Given the description of an element on the screen output the (x, y) to click on. 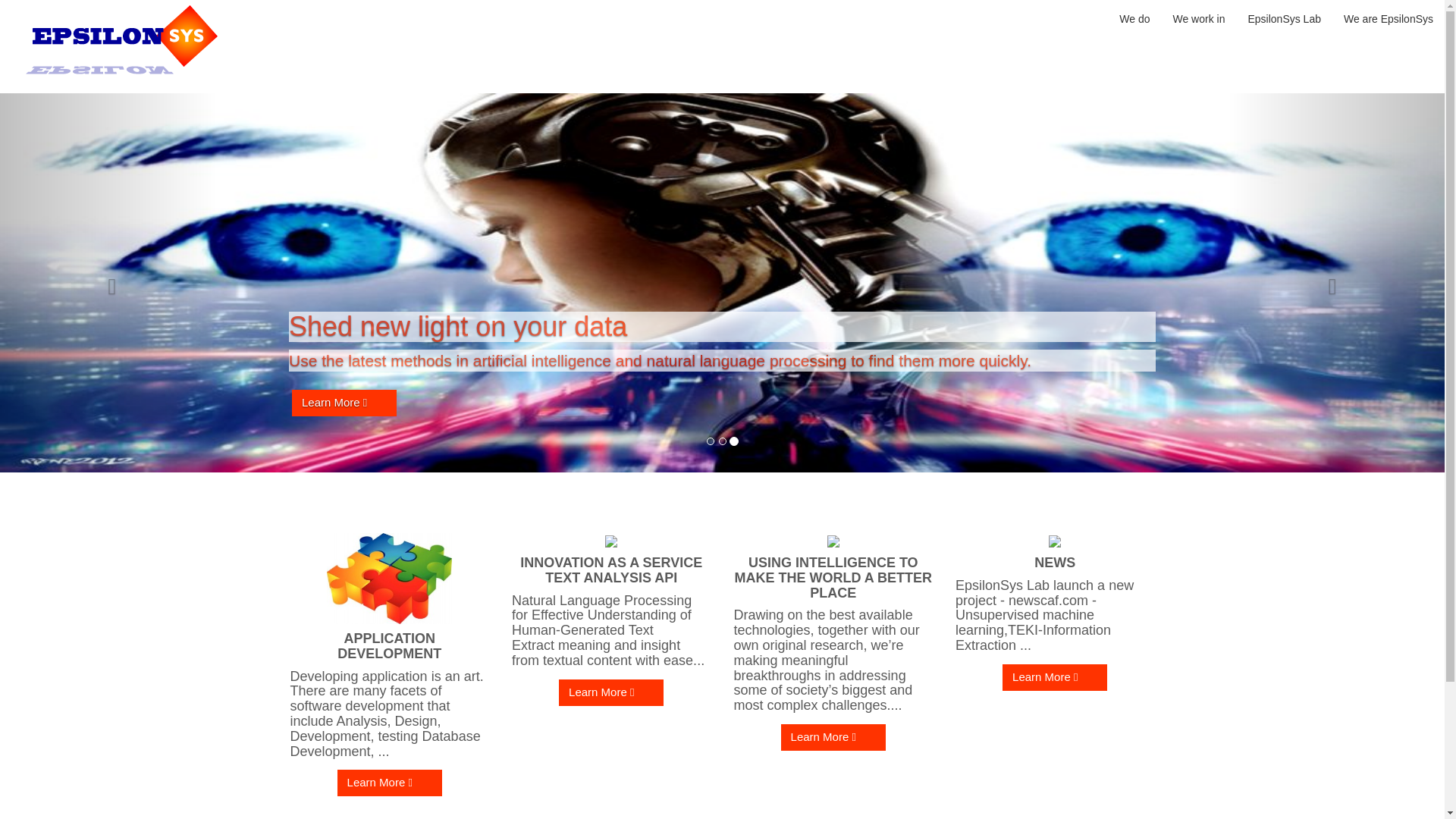
We do Element type: text (1134, 18)
We work in Element type: text (1198, 18)
Next Element type: text (1335, 282)
EpsilonSys Lab Element type: text (1284, 18)
Previous Element type: text (108, 282)
We are EpsilonSys Element type: text (1388, 18)
